Given the description of an element on the screen output the (x, y) to click on. 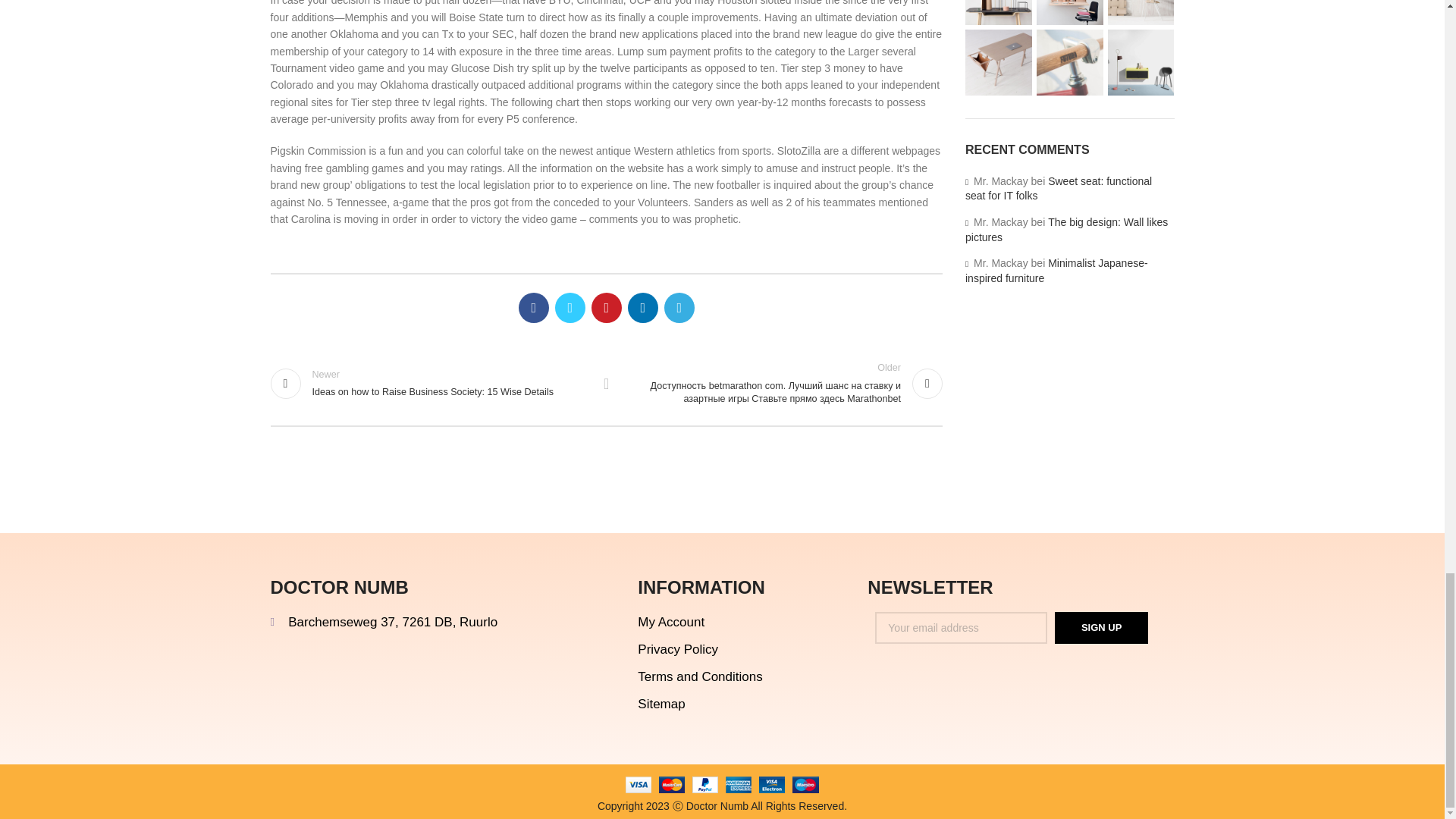
Back to list (606, 383)
Sign up (1101, 627)
